Given the description of an element on the screen output the (x, y) to click on. 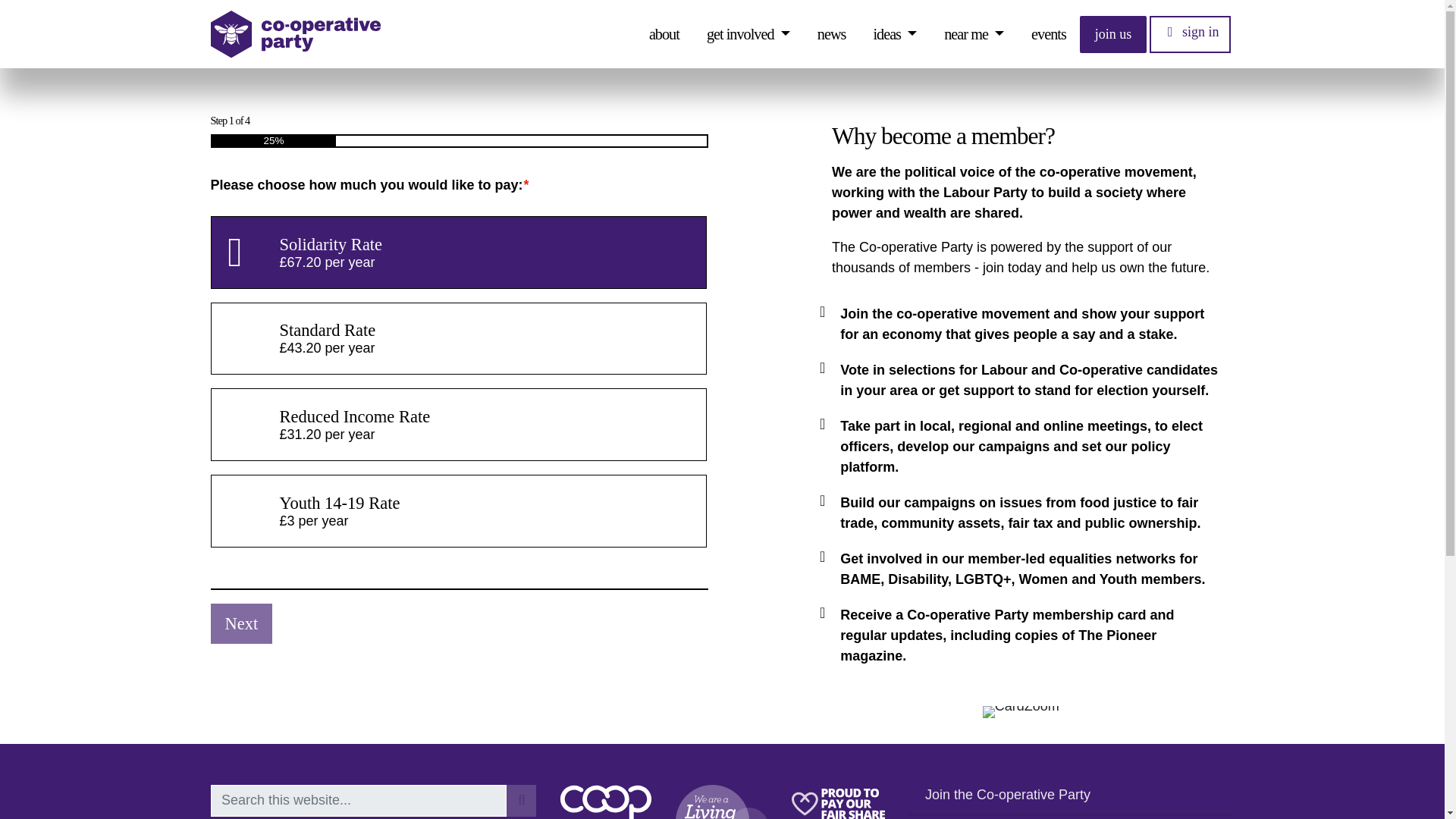
Co-operative Party Logo (296, 34)
get involved (748, 33)
near me (973, 33)
Get Involved (748, 33)
join us (1113, 33)
events (1049, 33)
News (831, 33)
Co-operative Party Logo (296, 34)
ideas (894, 33)
